Given the description of an element on the screen output the (x, y) to click on. 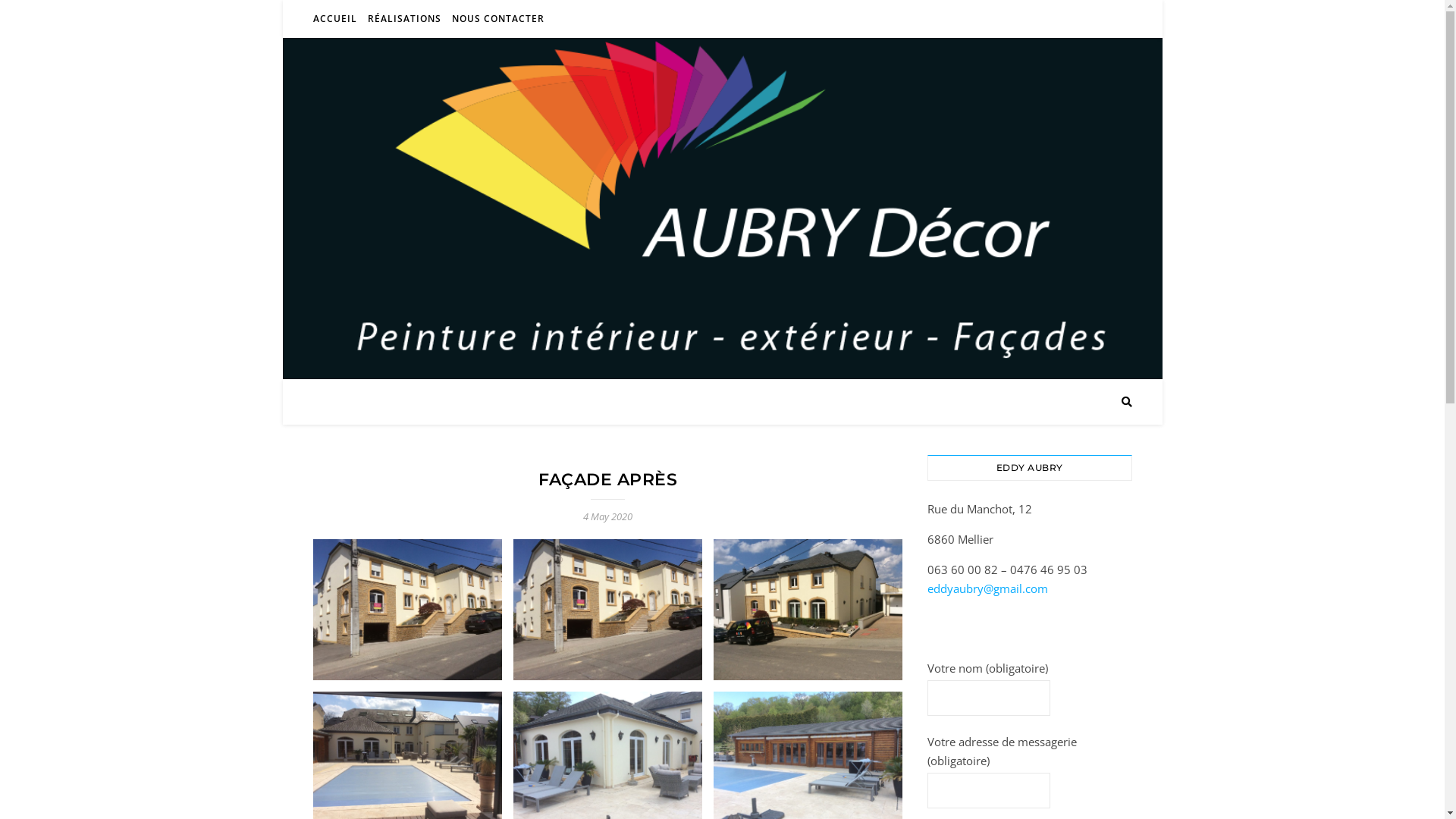
ACCUEIL Element type: text (336, 18)
eddyaubry@gmail.com Element type: text (986, 588)
NOUS CONTACTER Element type: text (495, 18)
